Given the description of an element on the screen output the (x, y) to click on. 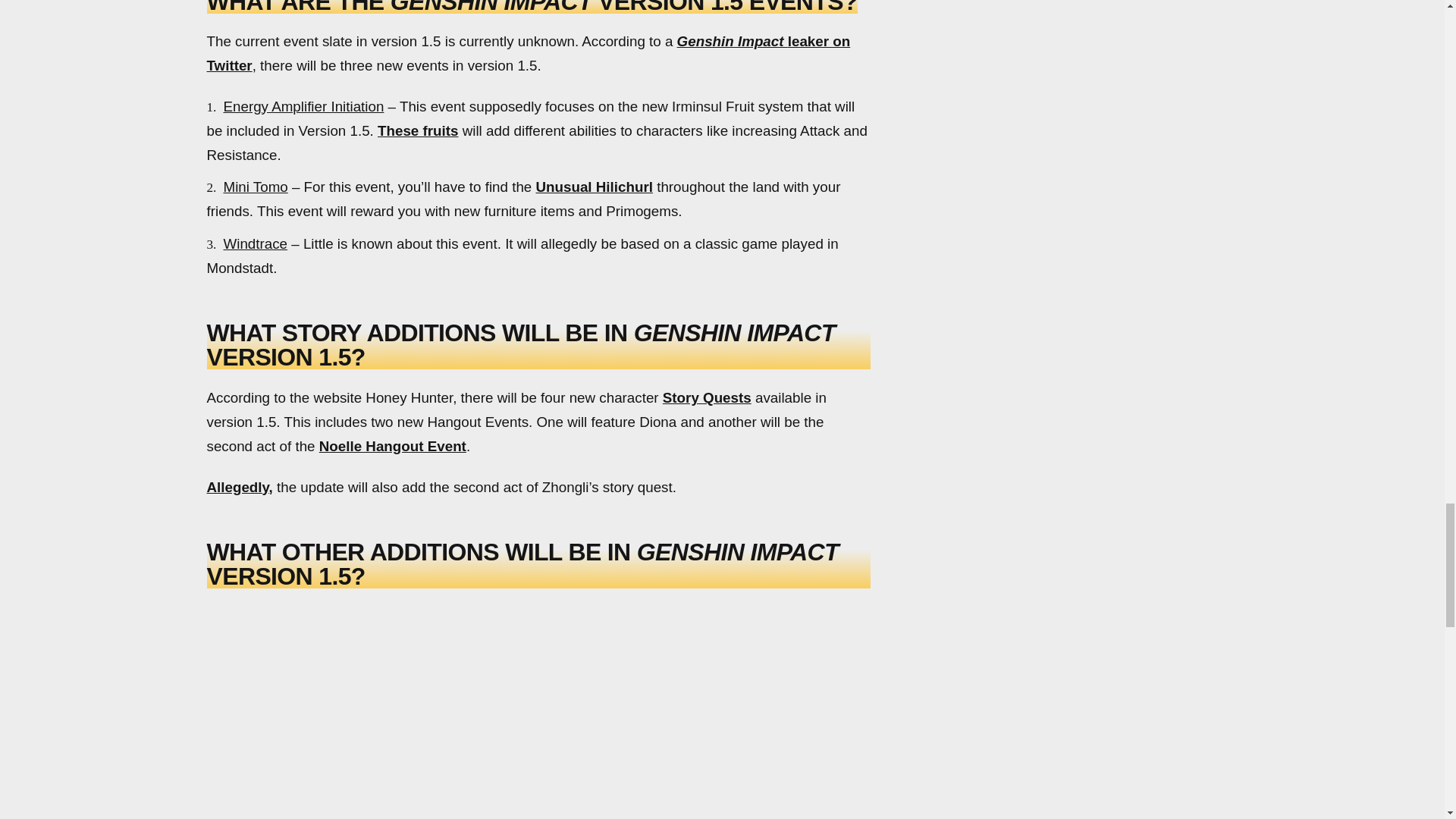
Story Quests (706, 397)
These fruits (417, 130)
Allegedly, (239, 487)
Noelle Hangout Event (391, 446)
Genshin Impact leaker on Twitter (528, 53)
Unusual Hilichurl (593, 186)
